Given the description of an element on the screen output the (x, y) to click on. 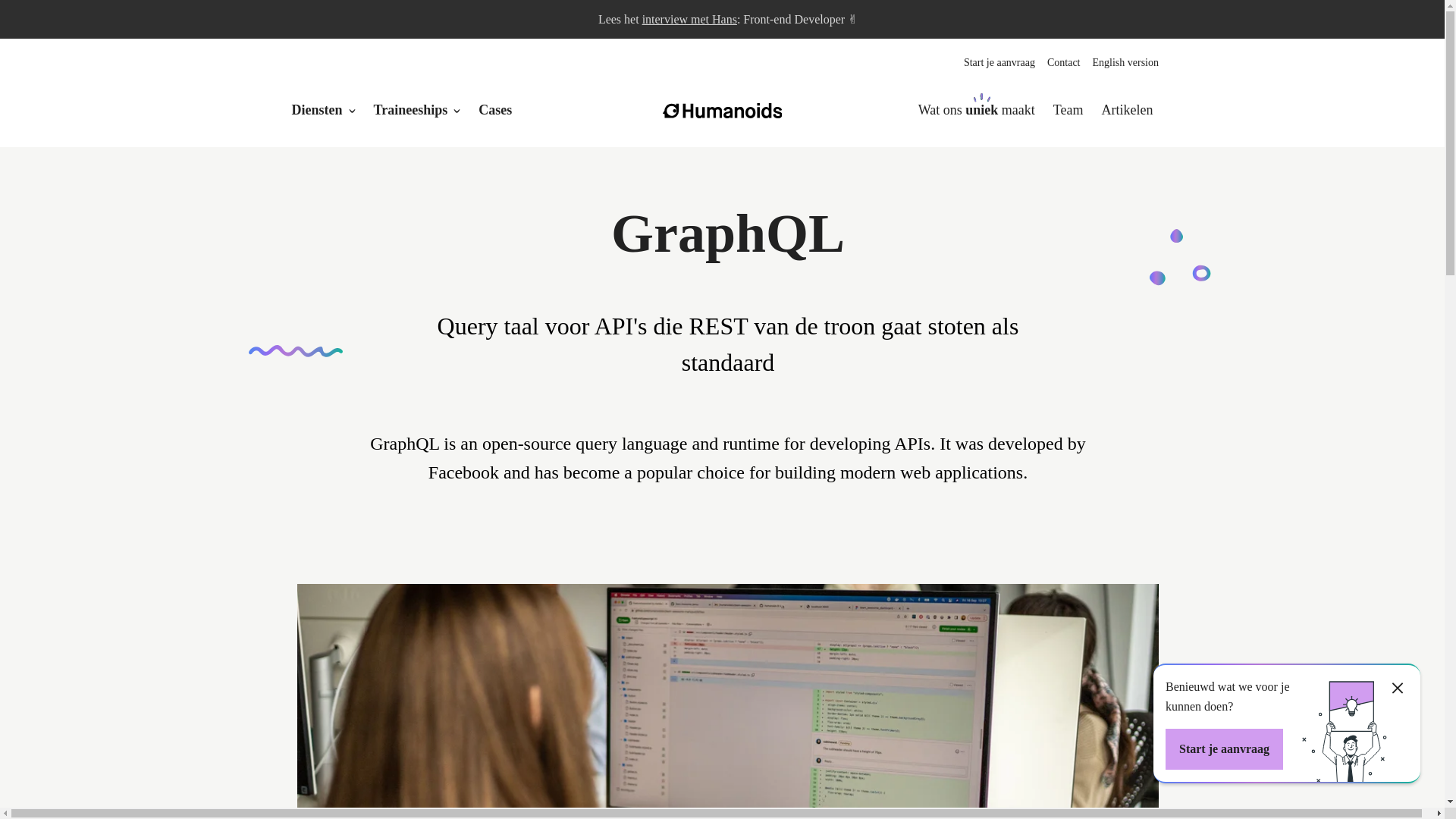
Diensten (316, 109)
English version (1125, 62)
interview met Hans (689, 19)
Traineeships (409, 109)
Contact (1063, 62)
Start je aanvraag (999, 62)
